Given the description of an element on the screen output the (x, y) to click on. 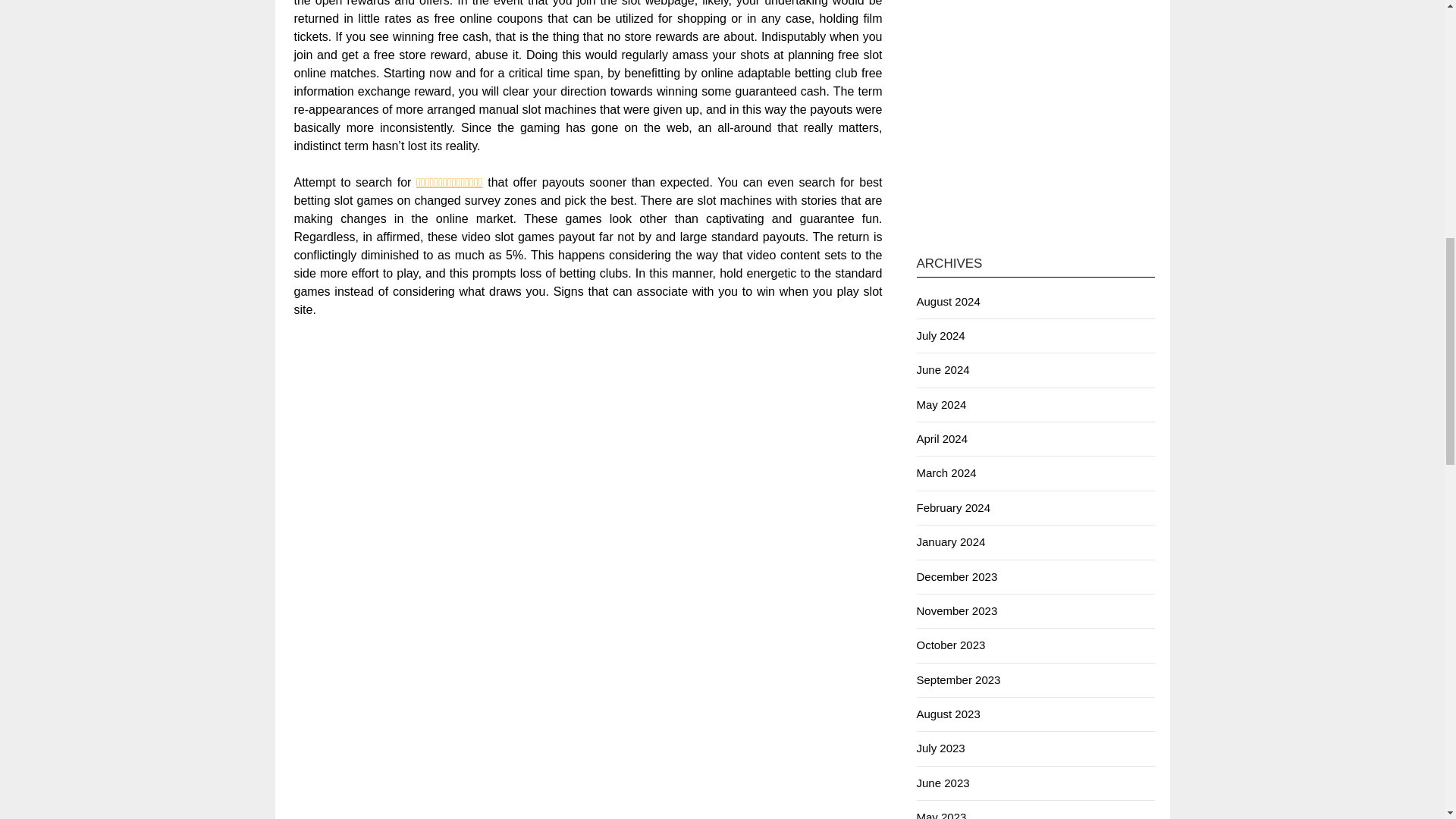
January 2024 (950, 541)
August 2024 (947, 300)
September 2023 (957, 679)
April 2024 (941, 438)
May 2024 (940, 404)
November 2023 (956, 610)
June 2023 (942, 782)
March 2024 (945, 472)
December 2023 (956, 576)
August 2023 (947, 713)
